Given the description of an element on the screen output the (x, y) to click on. 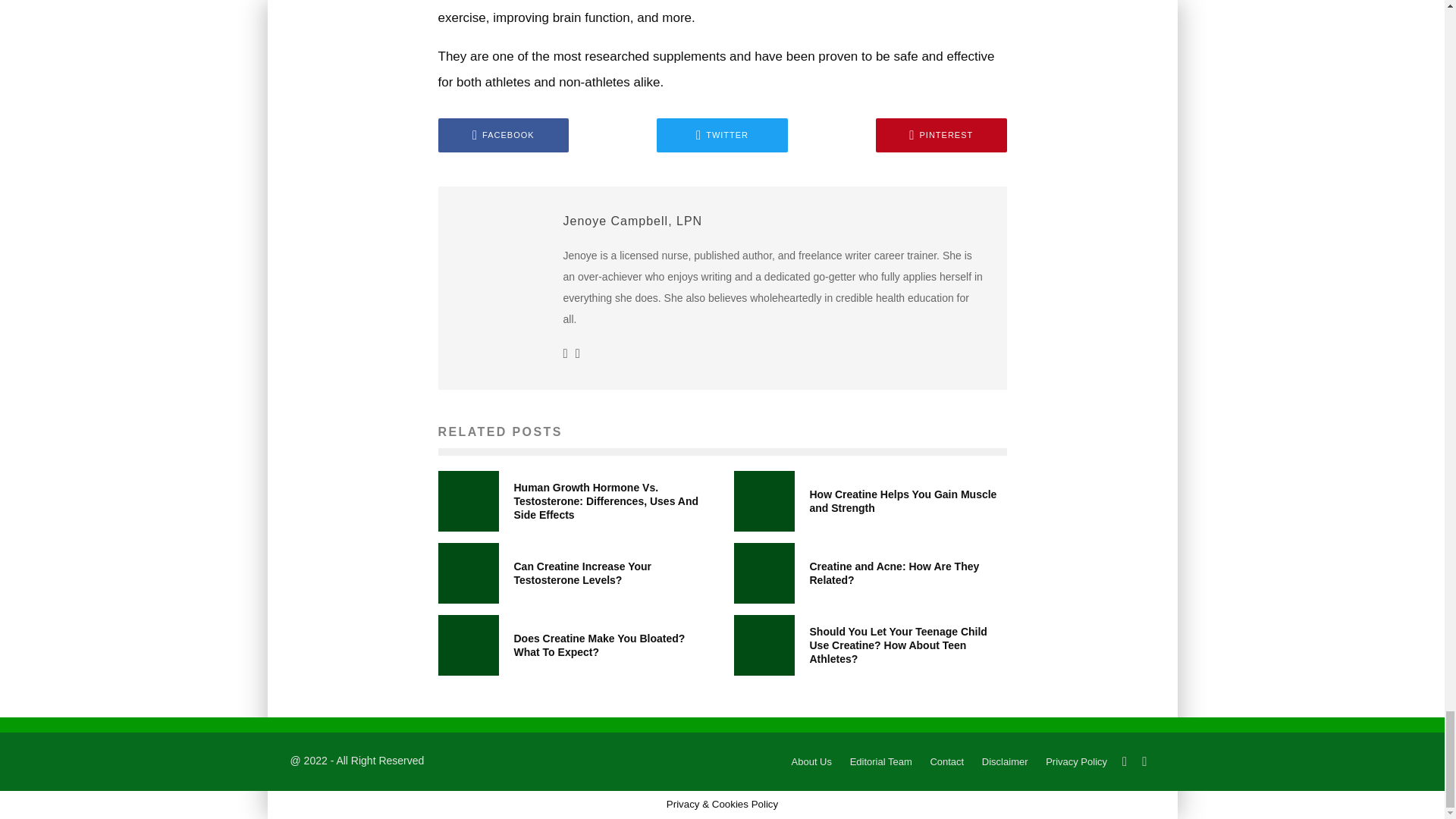
PINTEREST (941, 134)
Jenoye Campbell, LPN (631, 220)
TWITTER (721, 134)
FACEBOOK (503, 134)
How Creatine Helps You Gain Muscle and Strength (903, 501)
